Given the description of an element on the screen output the (x, y) to click on. 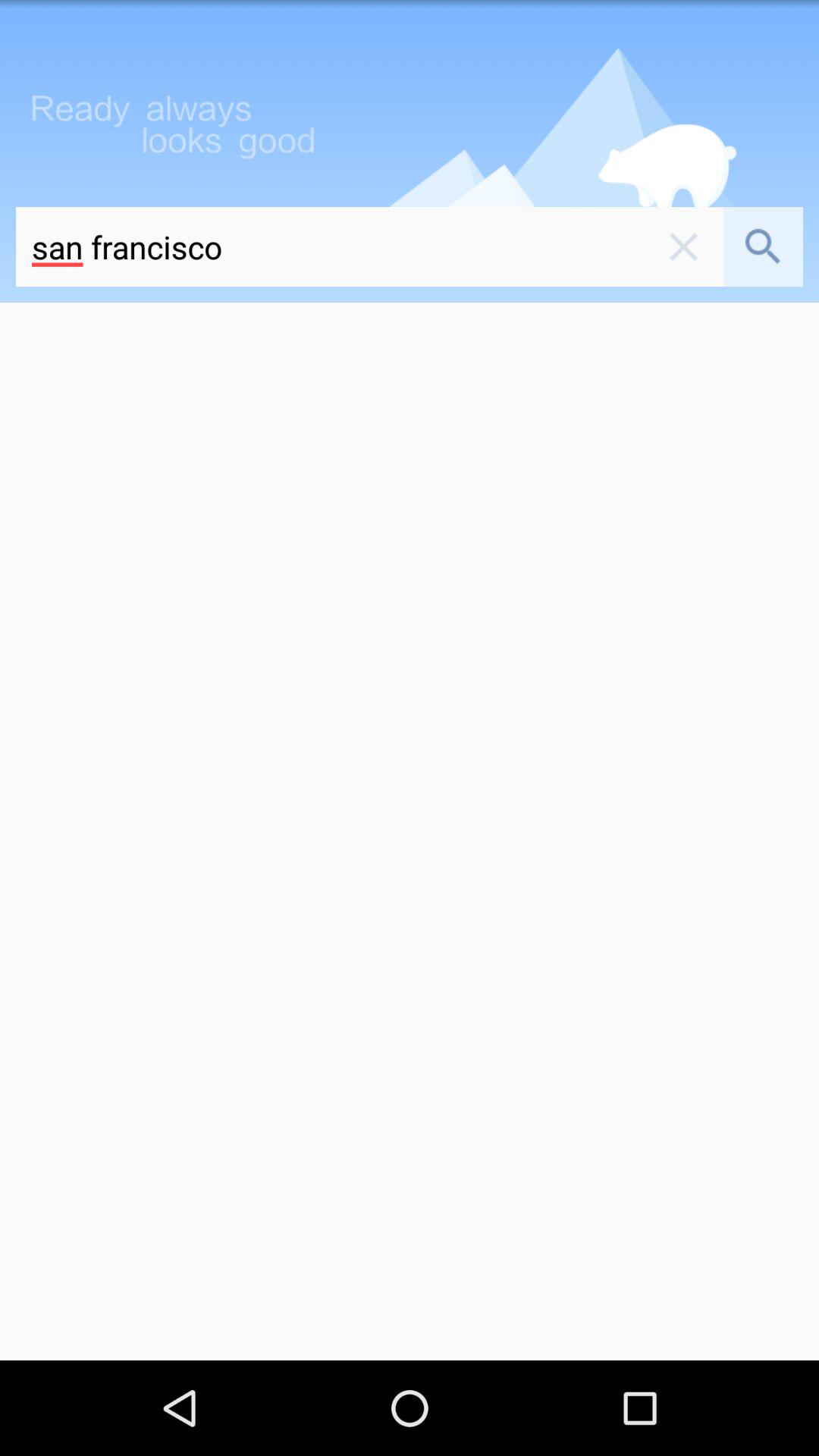
choose icon at the center (409, 831)
